Given the description of an element on the screen output the (x, y) to click on. 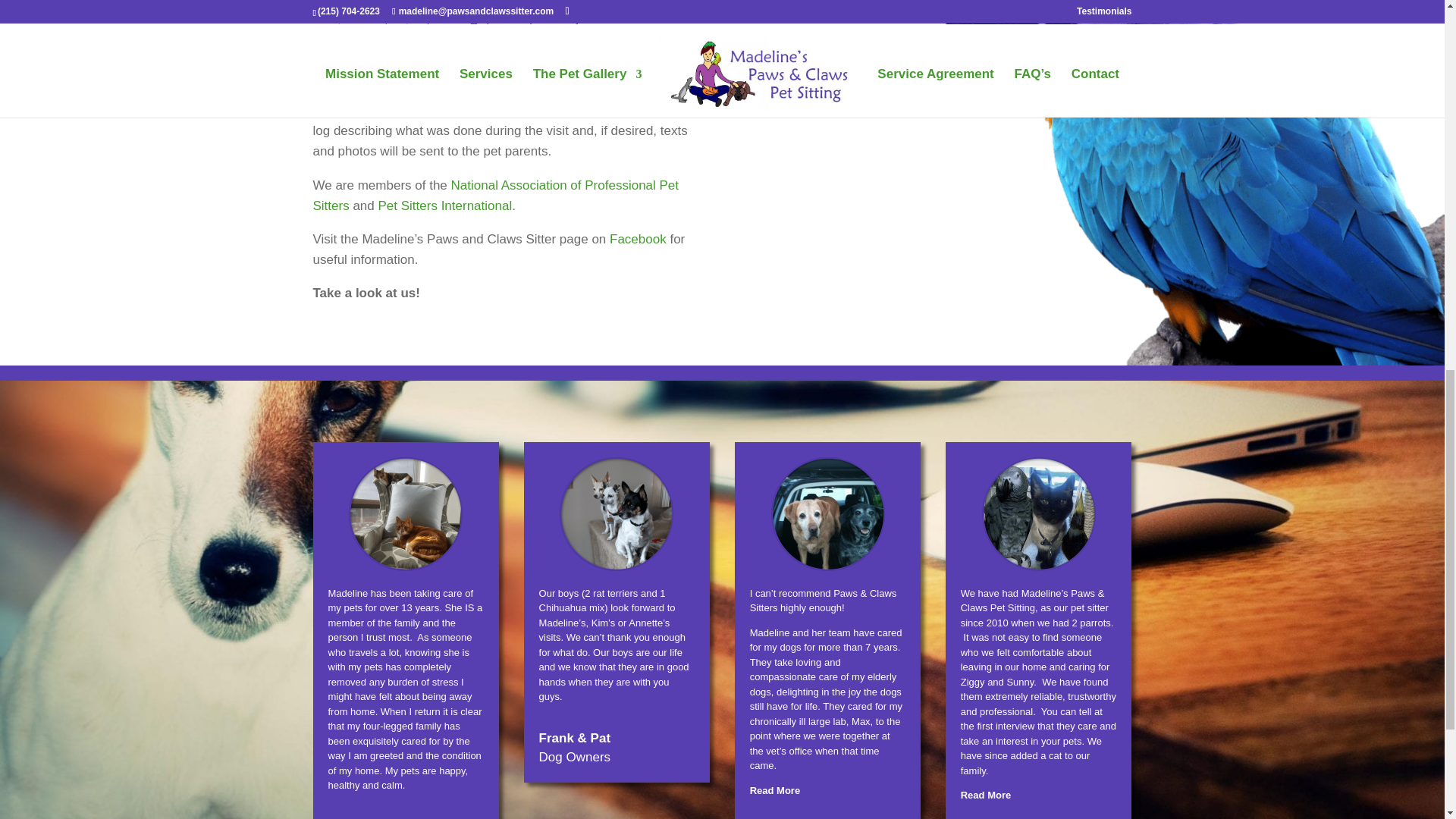
Read More (774, 789)
National Association of Professional Pet Sitters (495, 195)
Facebook (638, 238)
Pet Sitters International (444, 205)
Read More (985, 794)
